Given the description of an element on the screen output the (x, y) to click on. 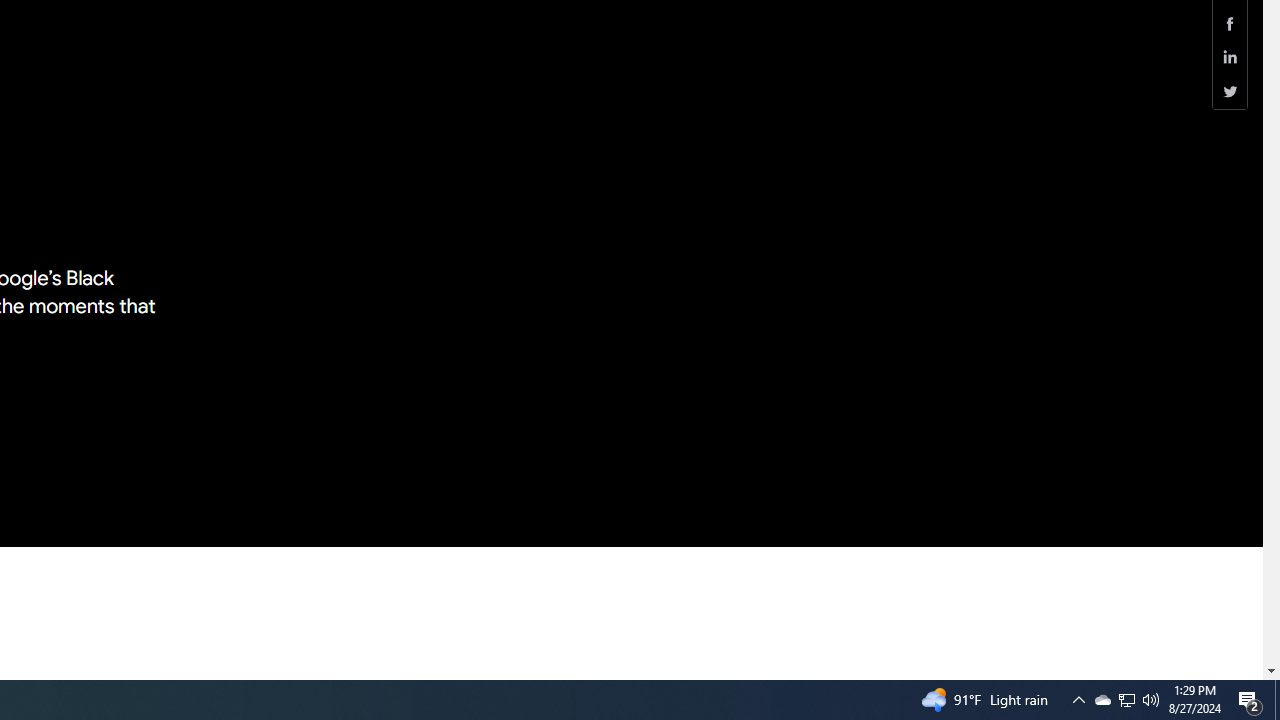
Share this page (Facebook) (1230, 23)
Share this page (LinkedIn) (1230, 57)
Share this page (Twitter) (1230, 91)
